Given the description of an element on the screen output the (x, y) to click on. 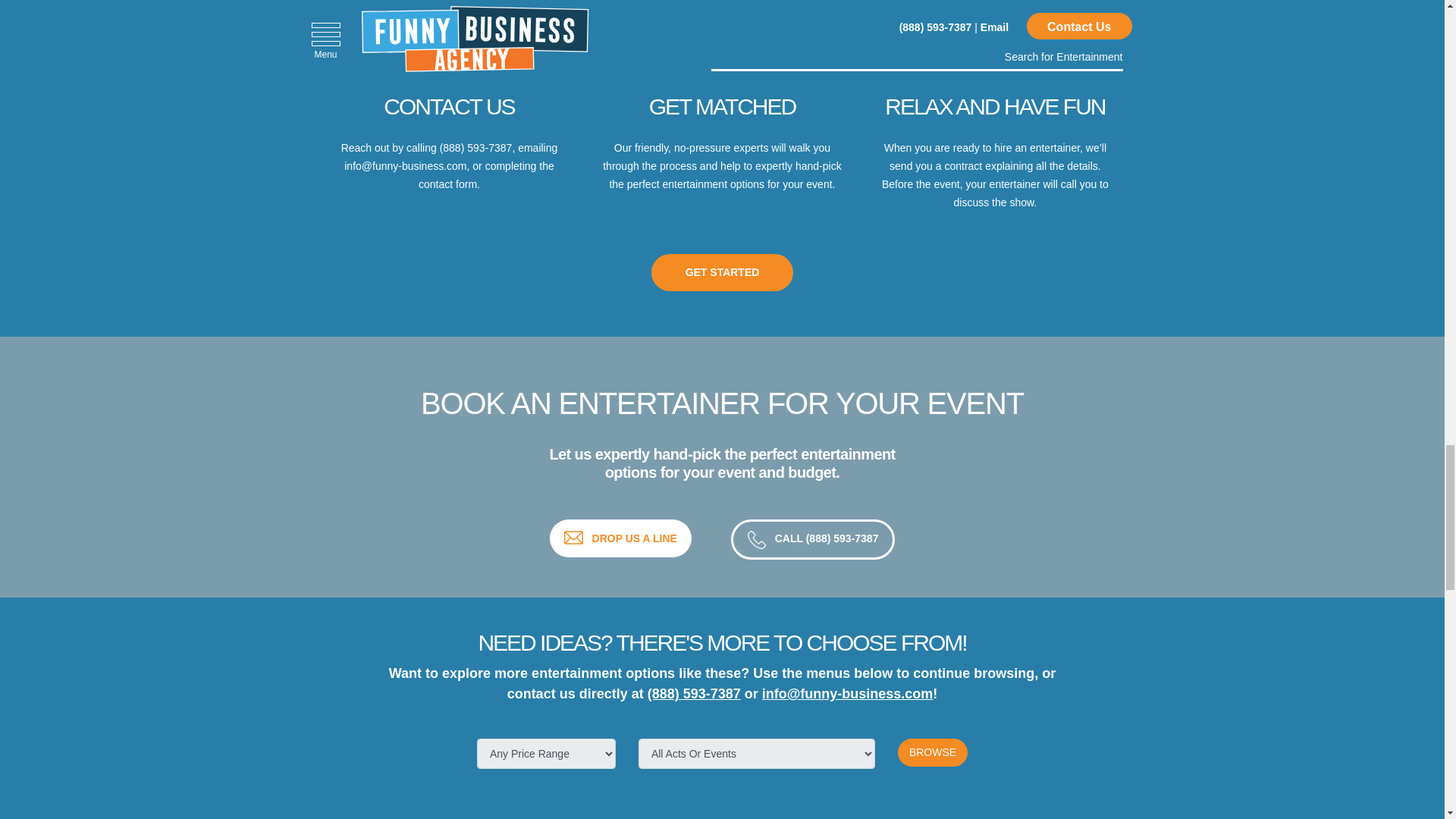
All Acts Or Events (757, 753)
Price Ranges (546, 753)
Browse (933, 752)
